Given the description of an element on the screen output the (x, y) to click on. 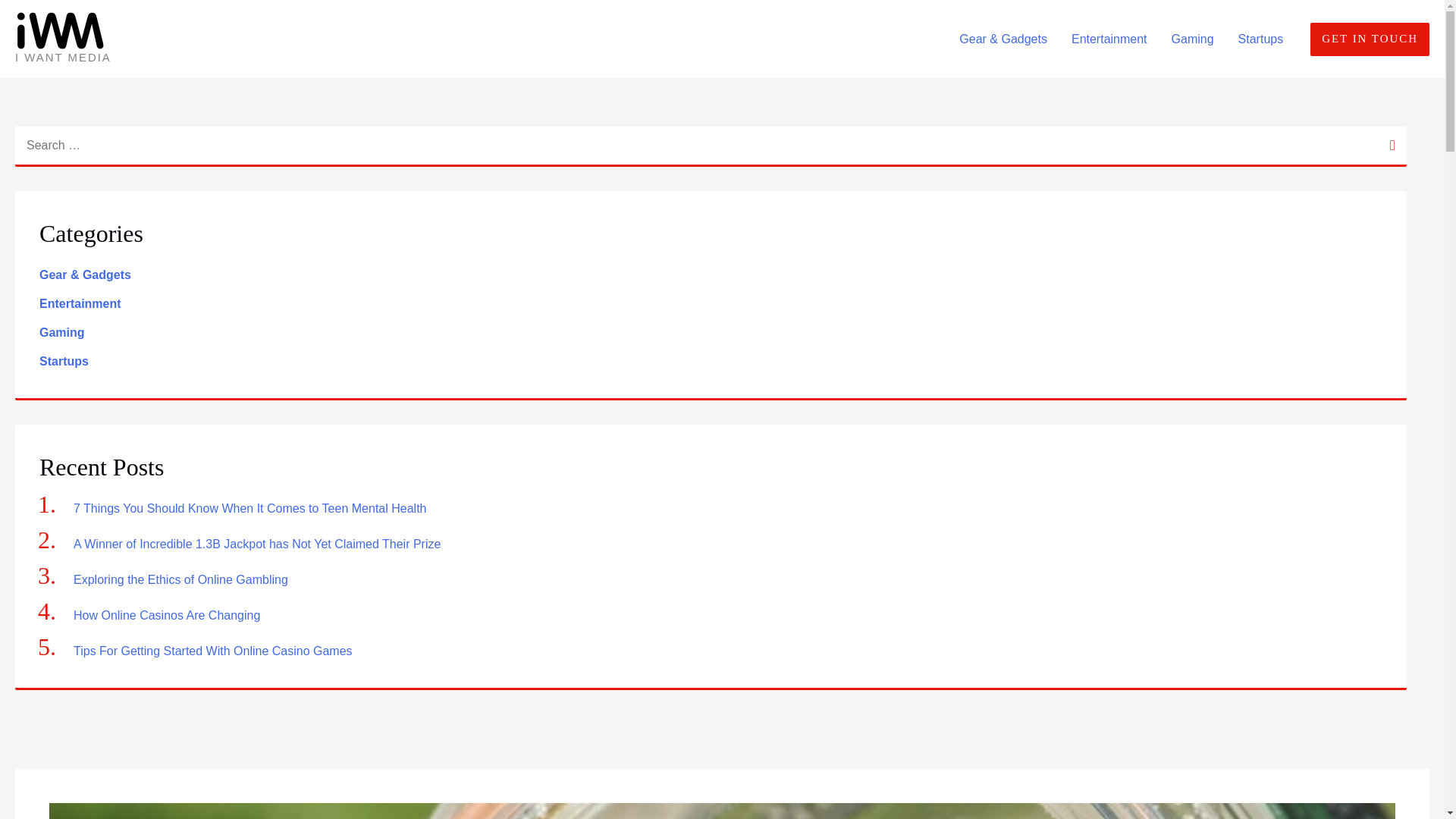
How Online Casinos Are Changing  (168, 615)
Startups (1260, 39)
Entertainment (1108, 39)
Startups (63, 360)
GET IN TOUCH (1369, 39)
Gaming (61, 332)
Gaming (1191, 39)
Entertainment (79, 303)
Exploring the Ethics of Online Gambling (181, 579)
7 Things You Should Know When It Comes to Teen Mental Health (250, 508)
Tips For Getting Started With Online Casino Games  (214, 650)
